Given the description of an element on the screen output the (x, y) to click on. 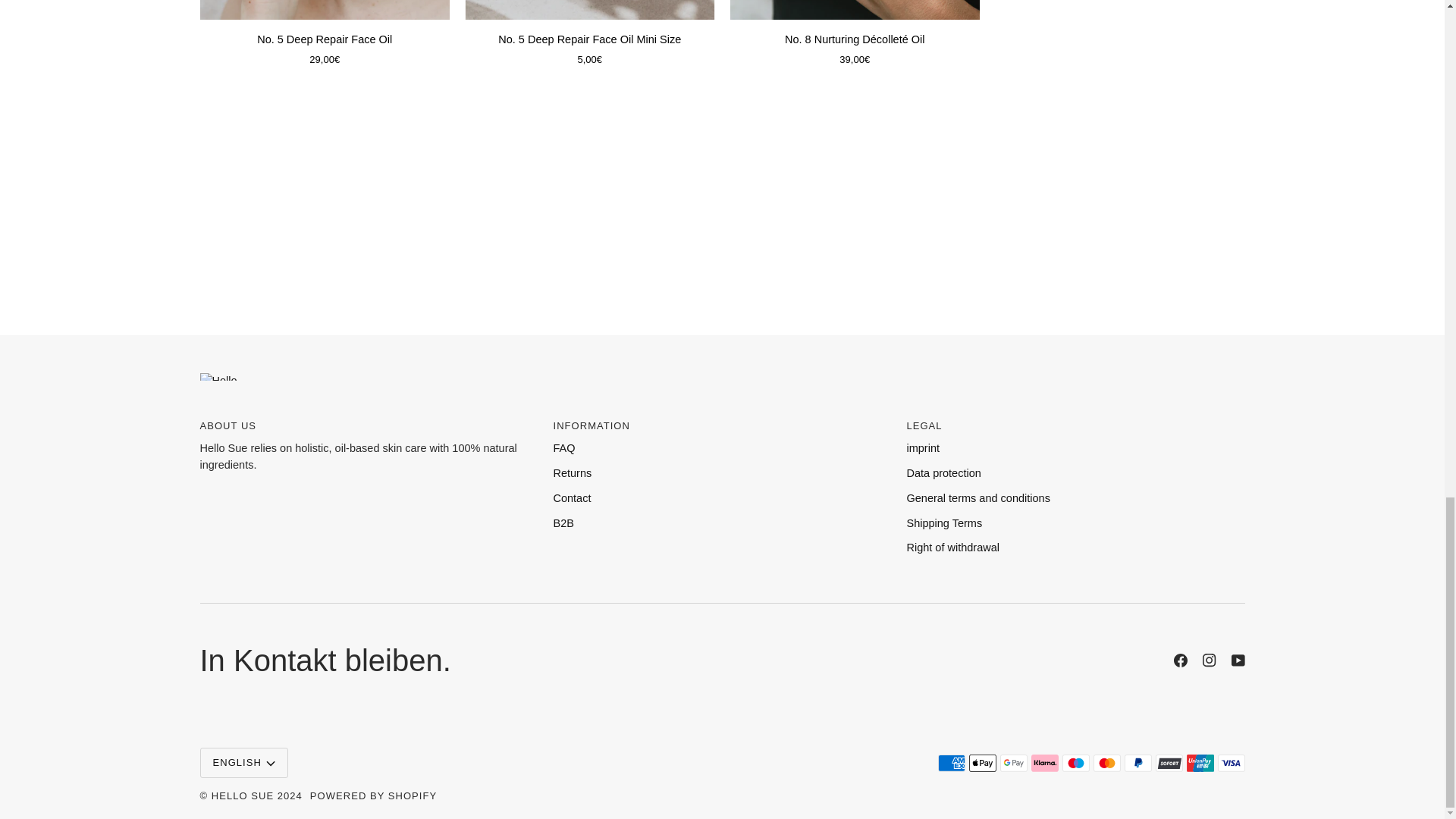
APPLE PAY (982, 762)
MASTERCARD (1107, 762)
SOFORT (1169, 762)
GOOGLE PAY (1012, 762)
UNION PAY (1199, 762)
Instagram (1208, 660)
YouTube (1237, 660)
VISA (1230, 762)
PAYPAL (1137, 762)
AMERICAN EXPRESS (950, 762)
KLARNA (1044, 762)
Facebook (1180, 660)
MAESTRO (1075, 762)
